Given the description of an element on the screen output the (x, y) to click on. 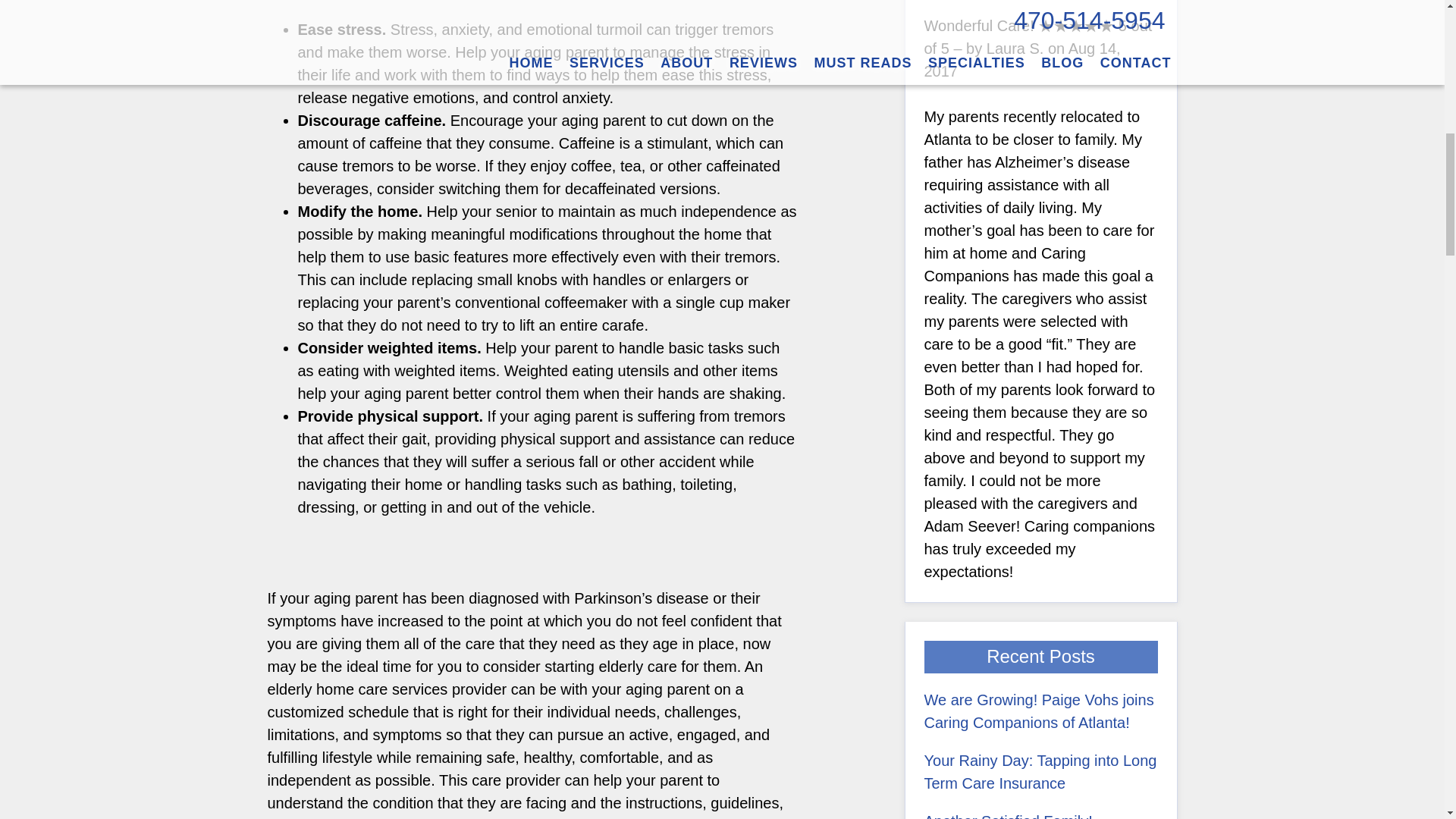
Your Rainy Day: Tapping into Long Term Care Insurance (1039, 771)
Another Satisfied Family! (1007, 816)
